Given the description of an element on the screen output the (x, y) to click on. 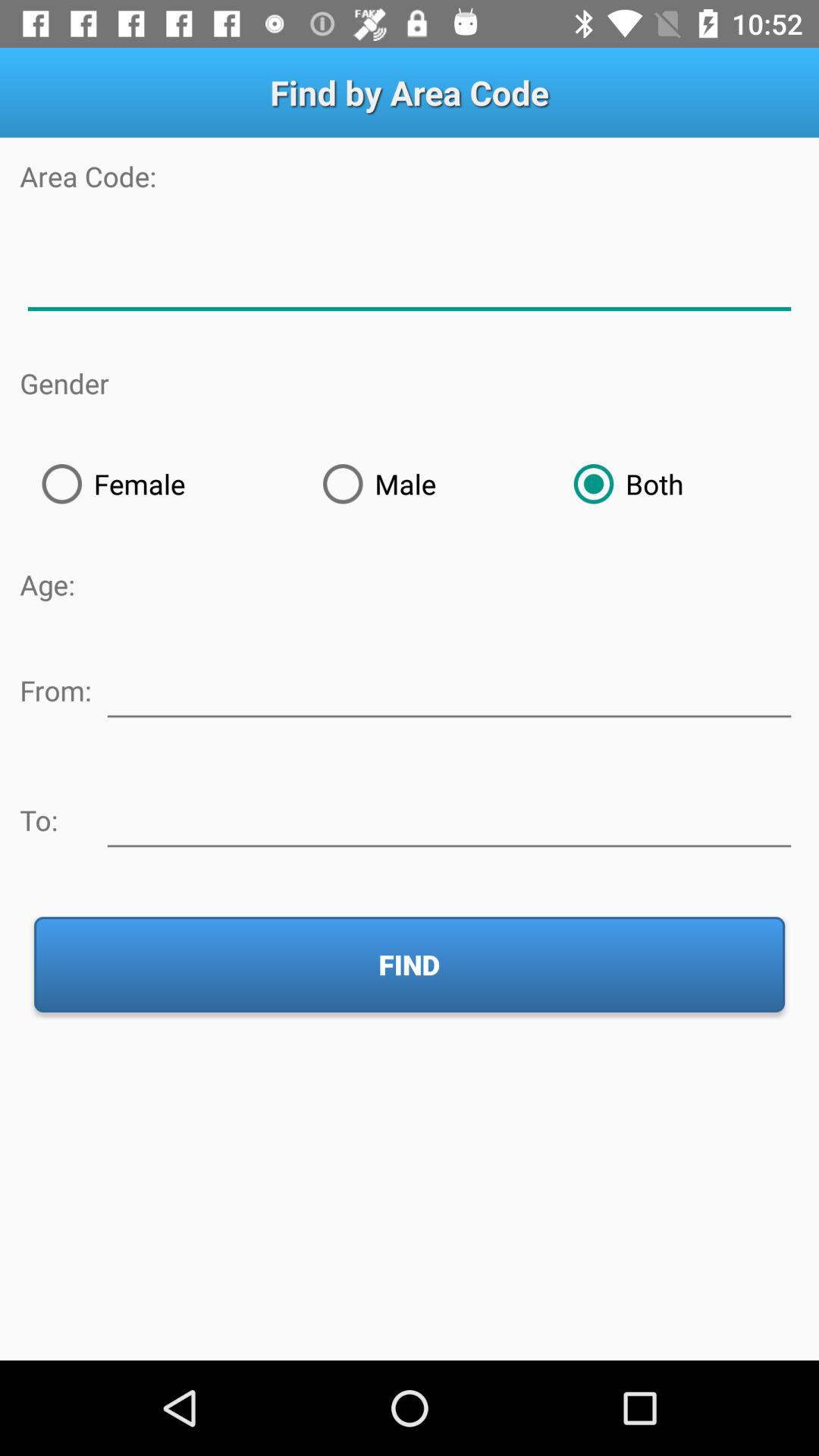
enter area code (409, 279)
